Given the description of an element on the screen output the (x, y) to click on. 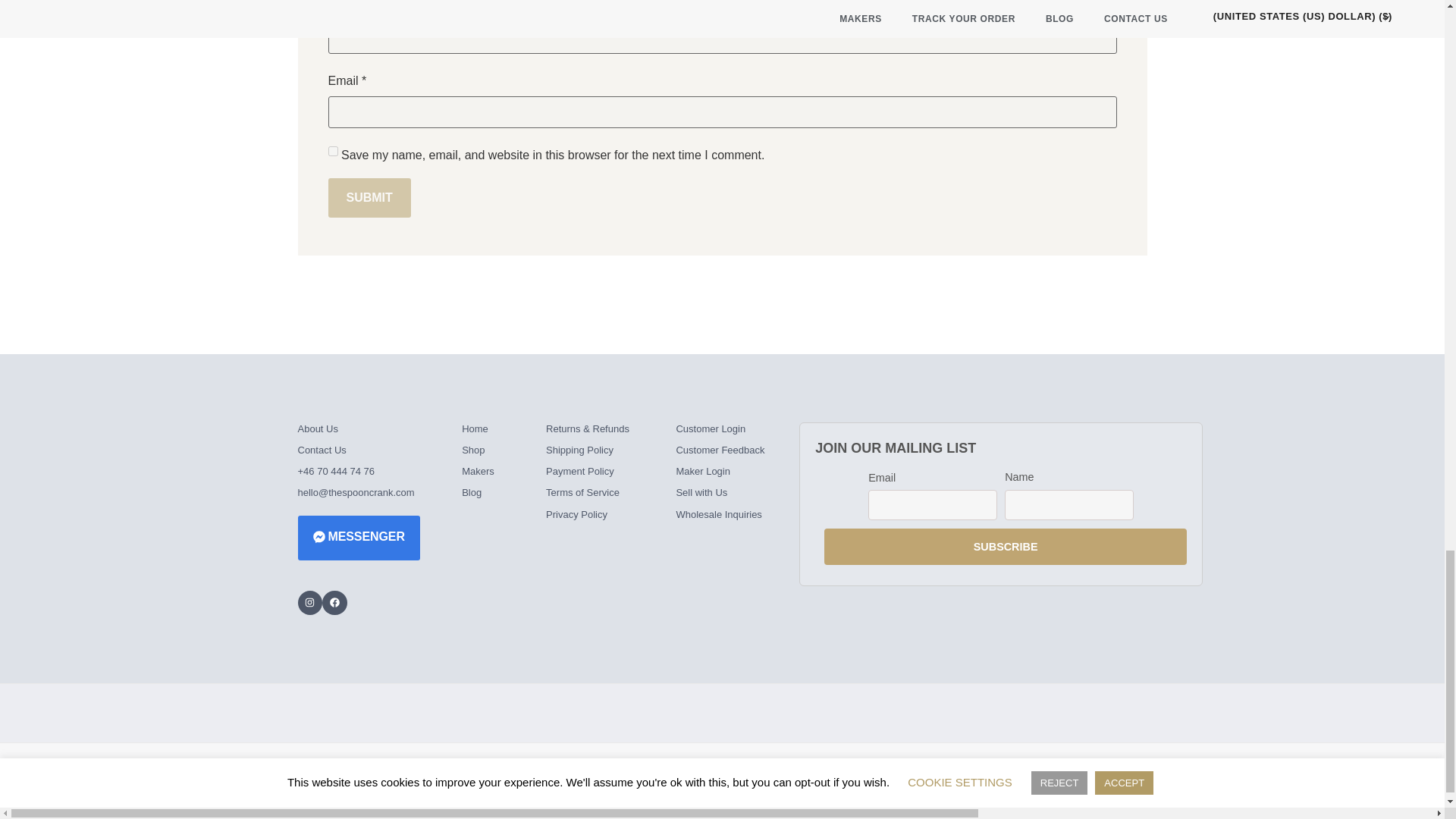
yes (332, 151)
Submit (368, 197)
SUBSCRIBE (1005, 546)
